Given the description of an element on the screen output the (x, y) to click on. 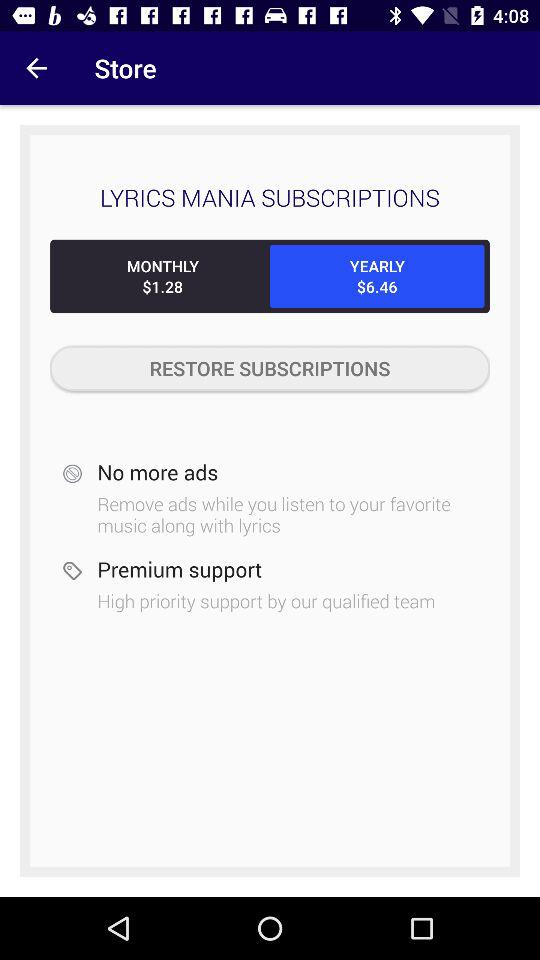
press item to the left of the store item (36, 68)
